Given the description of an element on the screen output the (x, y) to click on. 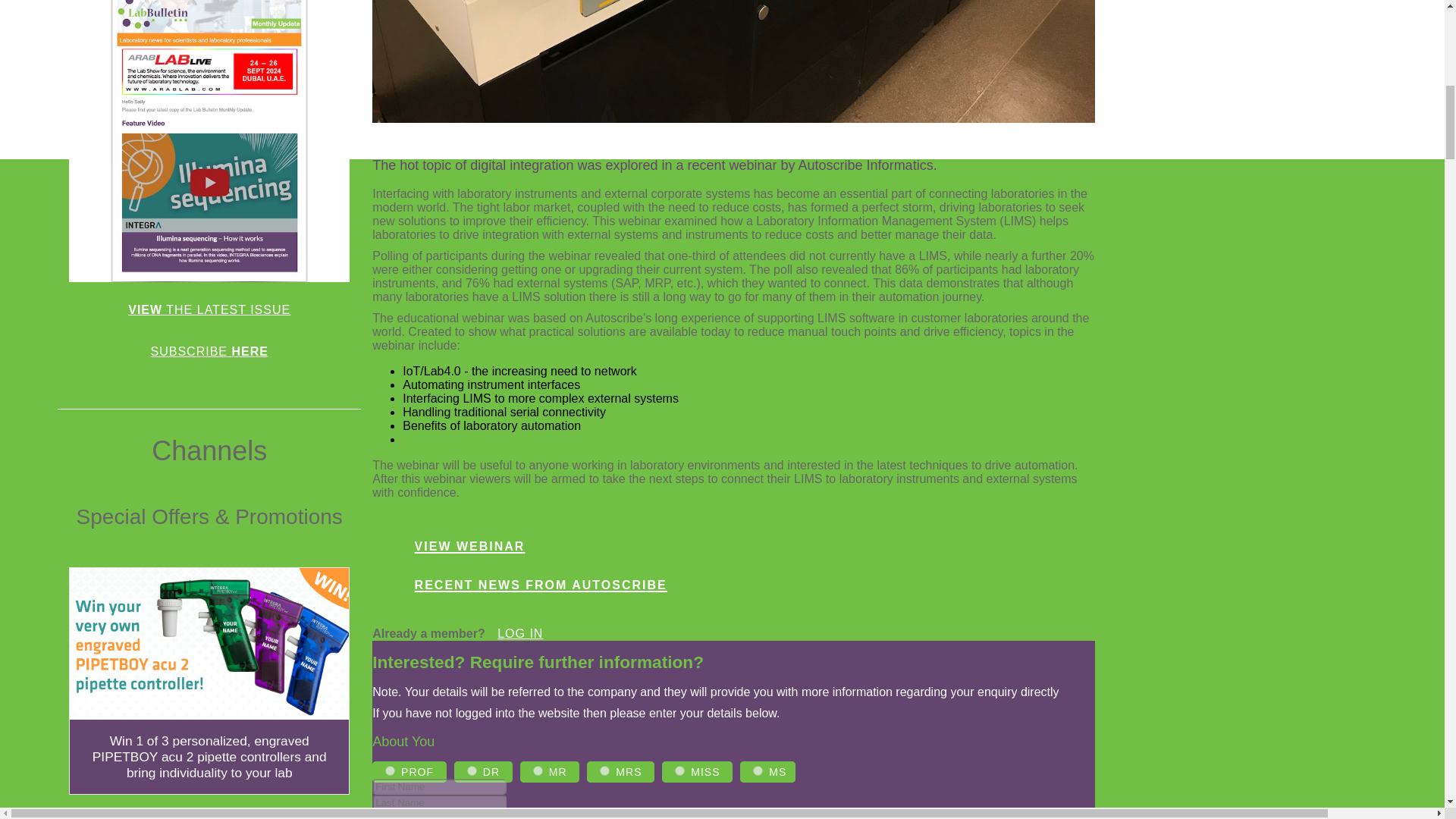
Mr (537, 770)
prof (389, 770)
Dr (472, 770)
Subscribe to our newsletters (209, 351)
Read the latest issue of Lab Bulletin's monthly newsletter (208, 140)
NEWS FROM AUTOSCRIBE (540, 582)
Miss (679, 770)
View the latest issue of the Lab Bulletin Monthly Newsletter (209, 309)
Mrs (604, 770)
Ms (757, 770)
